Given the description of an element on the screen output the (x, y) to click on. 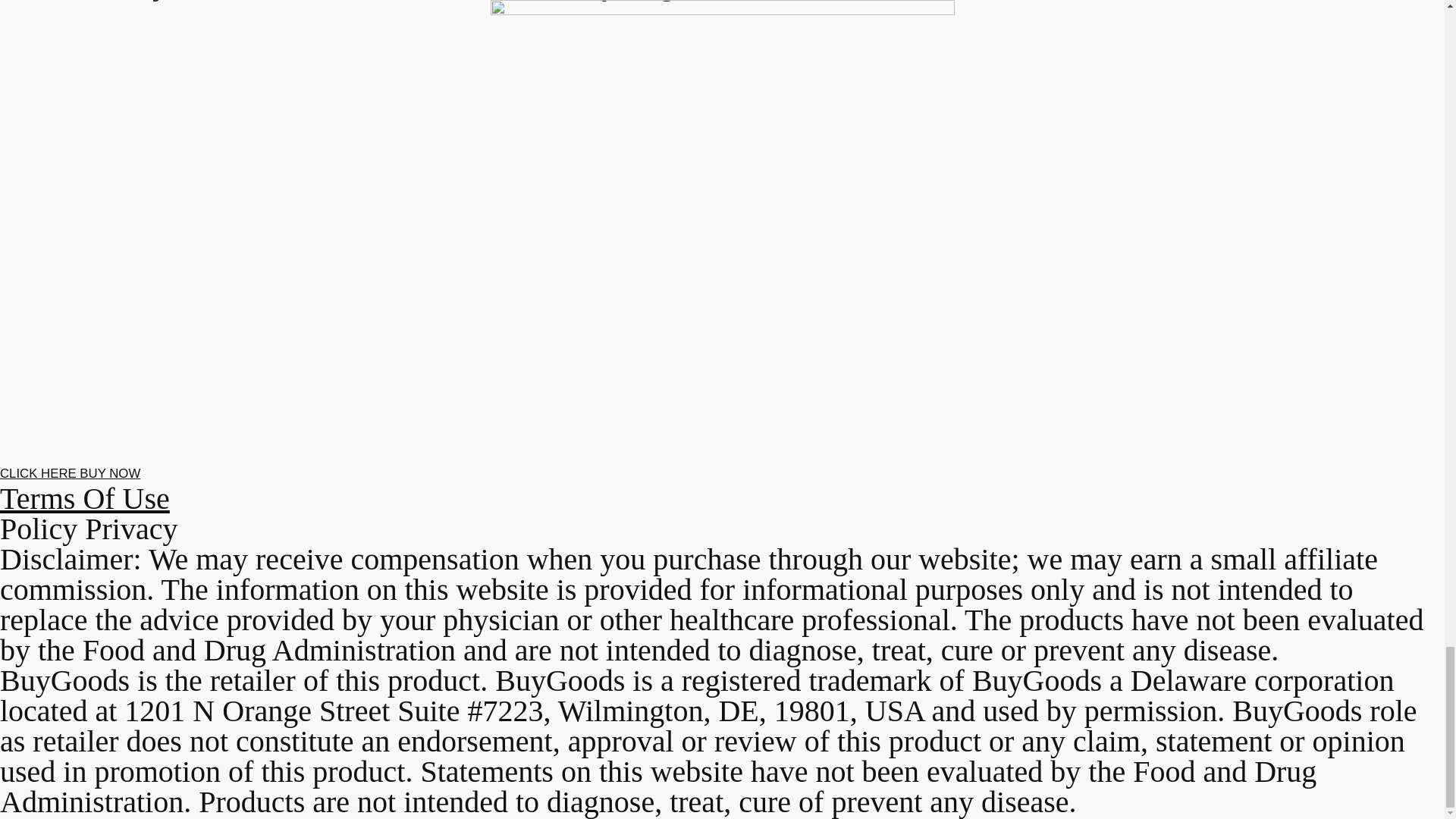
CLICK HERE BUY NOW (69, 473)
Terms Of Use (85, 498)
